Given the description of an element on the screen output the (x, y) to click on. 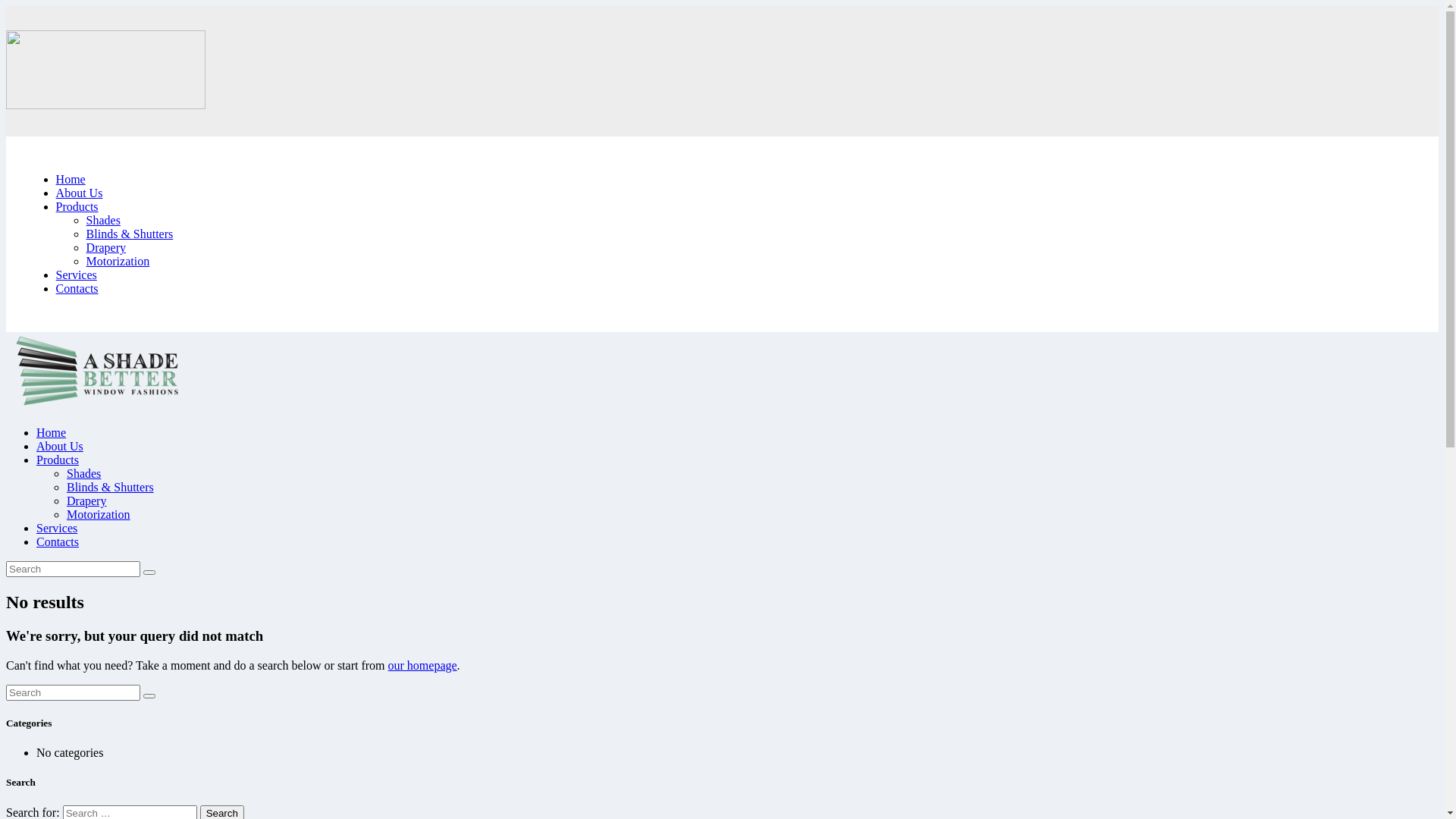
Blinds & Shutters Element type: text (109, 486)
Motorization Element type: text (118, 260)
Drapery Element type: text (105, 247)
About Us Element type: text (59, 445)
our homepage Element type: text (422, 664)
Shades Element type: text (83, 473)
Products Element type: text (77, 206)
Blinds & Shutters Element type: text (129, 233)
Drapery Element type: text (86, 500)
Motorization Element type: text (98, 514)
Home Element type: text (70, 178)
Shades Element type: text (103, 219)
Contacts Element type: text (77, 288)
Contacts Element type: text (57, 541)
Home Element type: text (50, 432)
Services Element type: text (56, 527)
About Us Element type: text (79, 192)
Services Element type: text (76, 274)
Products Element type: text (57, 459)
